Given the description of an element on the screen output the (x, y) to click on. 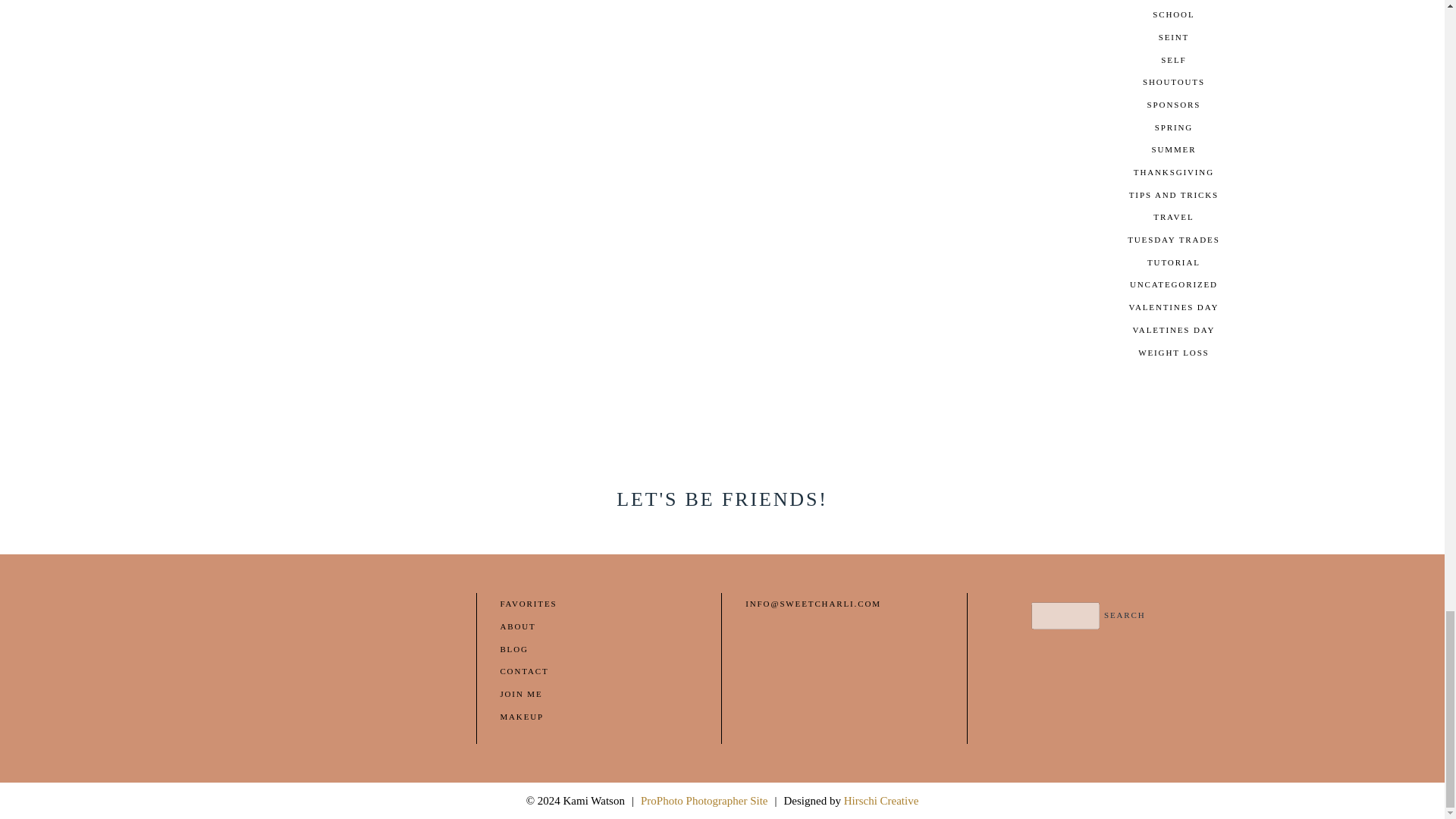
ProPhoto Photo Theme (704, 800)
Search (1124, 615)
Search (1124, 615)
